Given the description of an element on the screen output the (x, y) to click on. 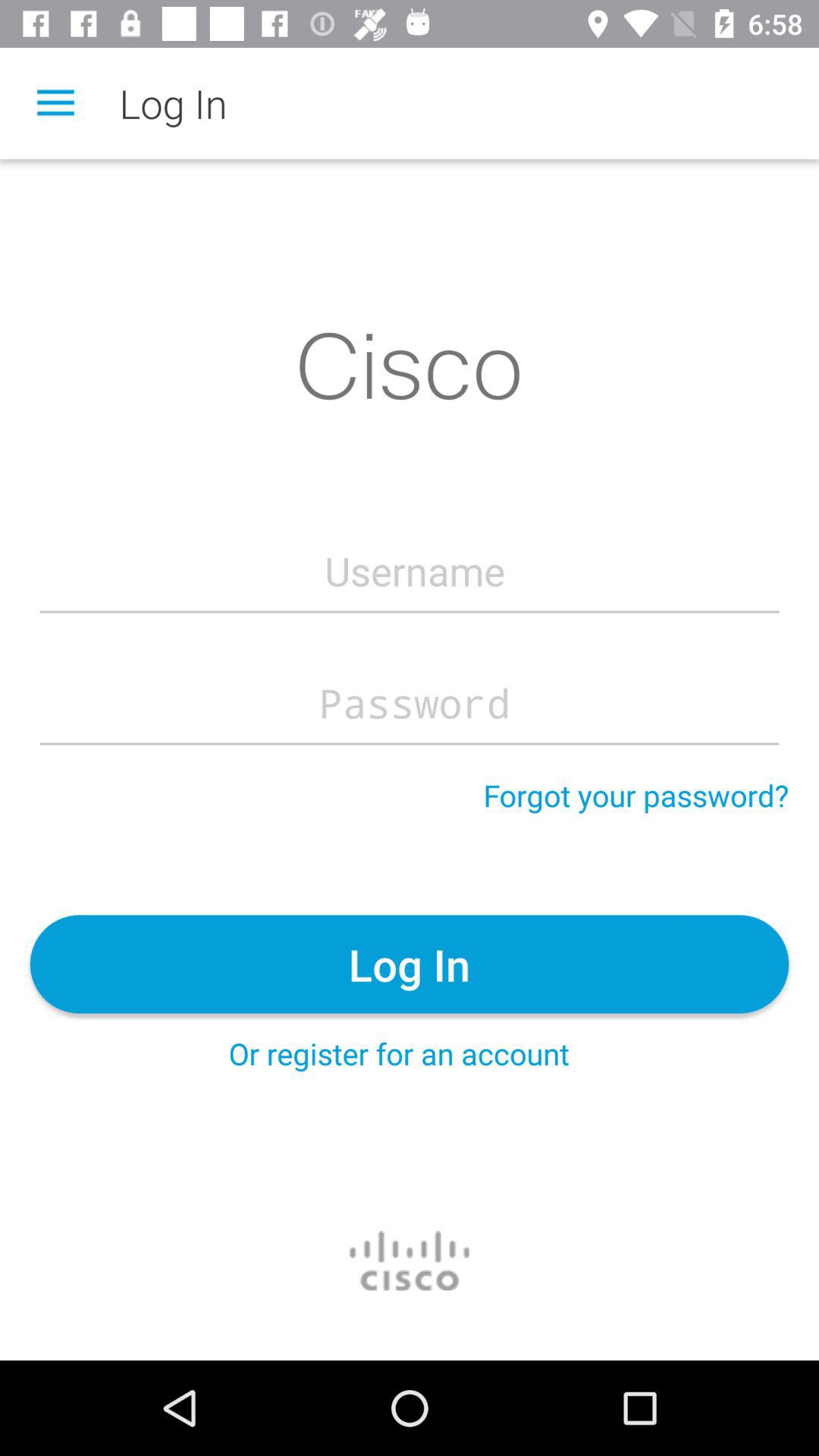
open forgot your password? item (635, 795)
